Given the description of an element on the screen output the (x, y) to click on. 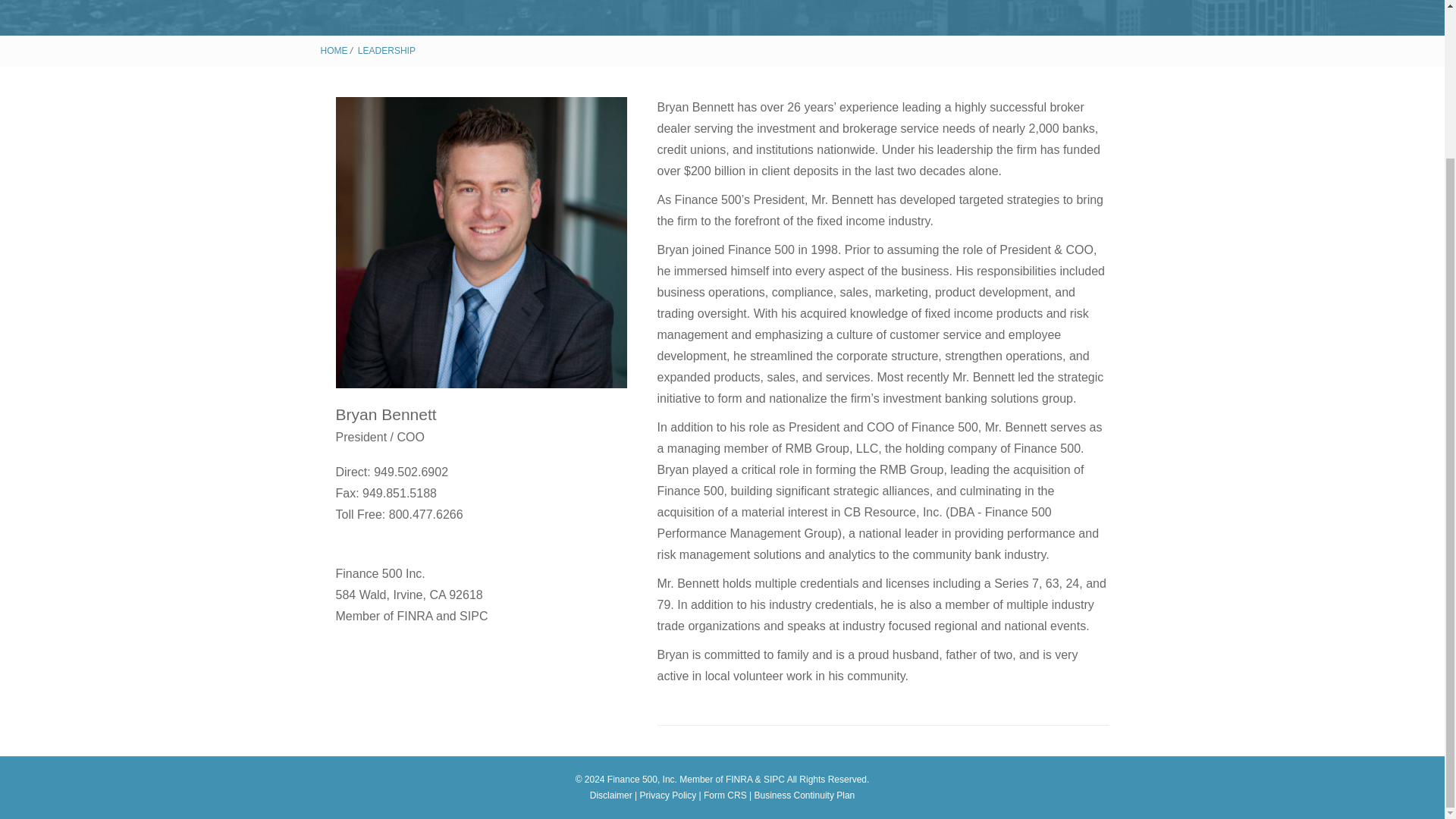
bryan-bennett-profile-finance500-850 (480, 242)
HOME (333, 50)
LEADERSHIP (386, 50)
